Given the description of an element on the screen output the (x, y) to click on. 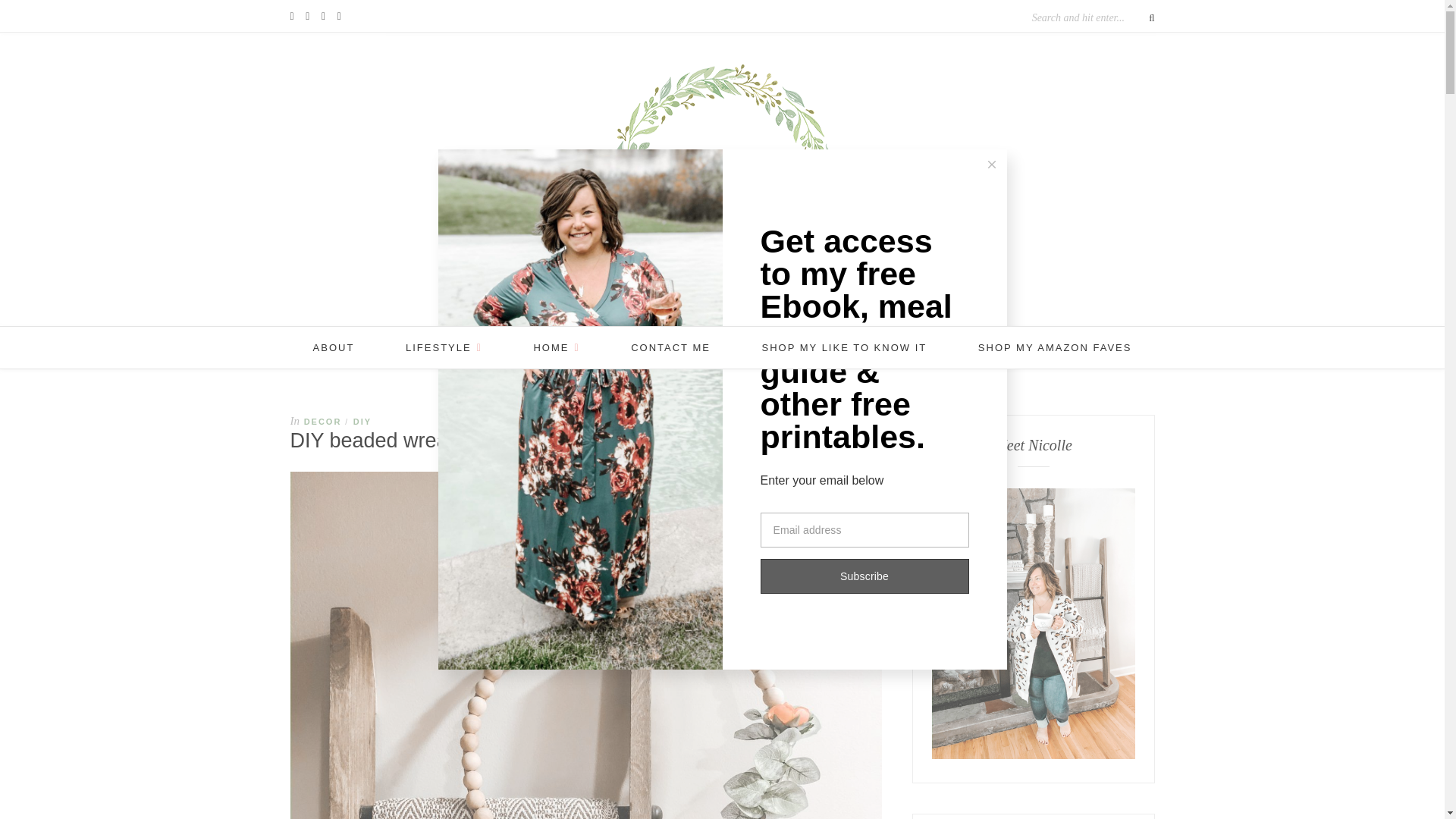
SHOP MY AMAZON FAVES (1055, 347)
DIY (362, 420)
ABOUT (334, 347)
HOME (555, 347)
CONTACT ME (670, 347)
SHOP MY LIKE TO KNOW IT (844, 347)
LIFESTYLE (443, 347)
DECOR (323, 420)
12 (871, 425)
